Given the description of an element on the screen output the (x, y) to click on. 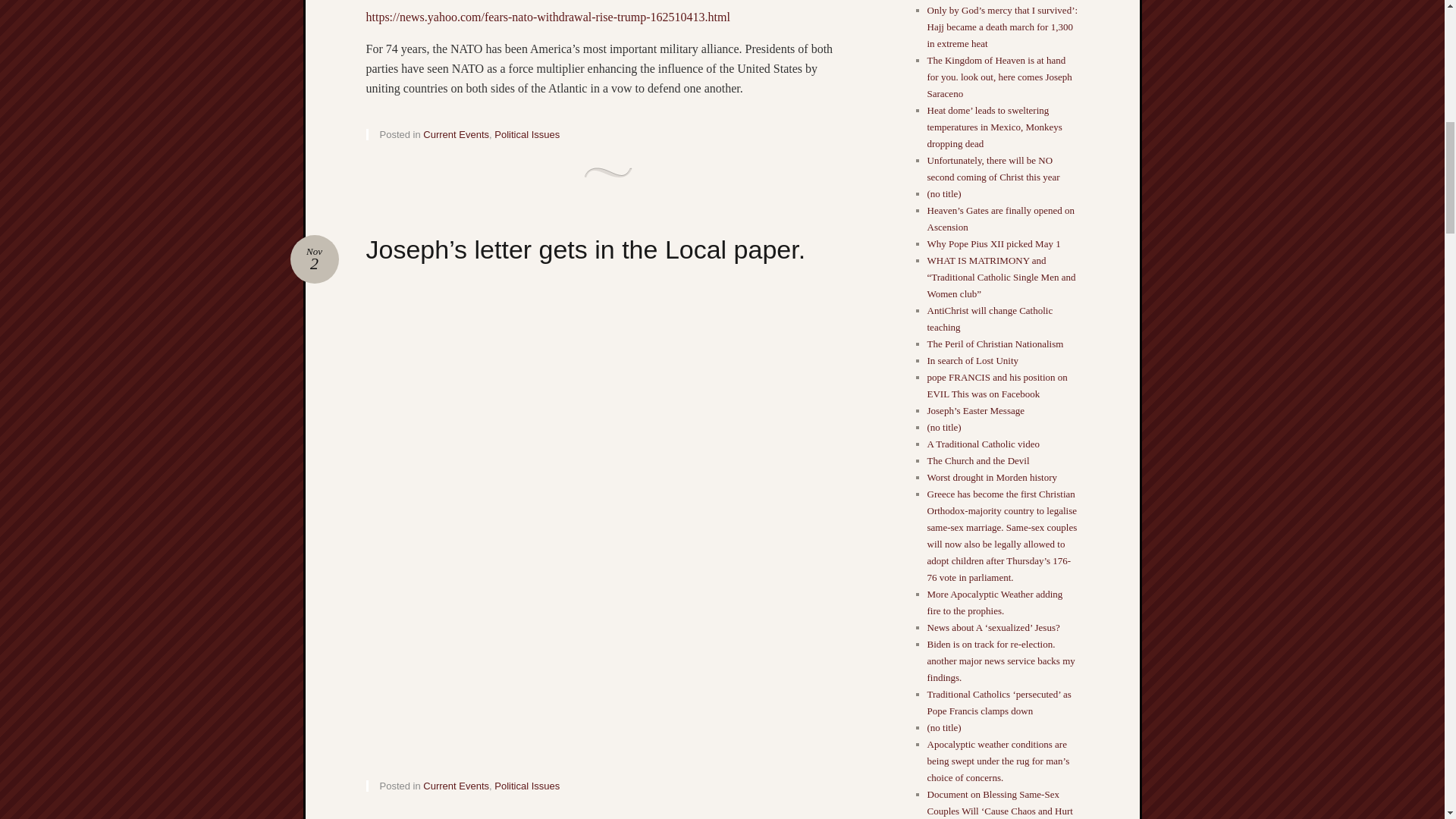
Political Issues (527, 134)
Current Events (456, 134)
Political Issues (313, 259)
November 2 2023 (527, 785)
Current Events (313, 259)
